Given the description of an element on the screen output the (x, y) to click on. 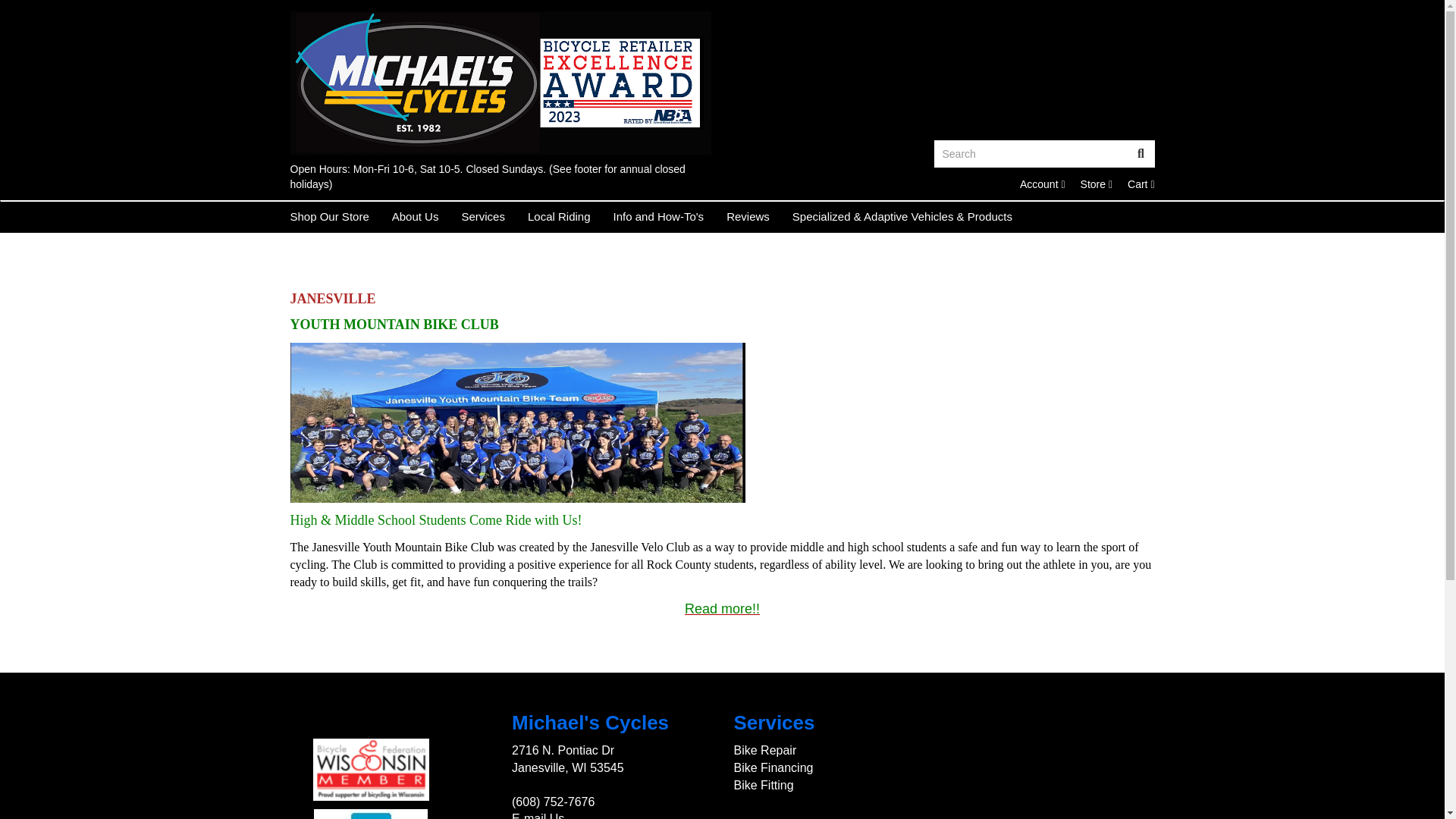
Store (1096, 184)
Shop Our Store (329, 216)
Search (1140, 184)
Cart (1042, 184)
Search (1031, 153)
Account (1096, 184)
